Given the description of an element on the screen output the (x, y) to click on. 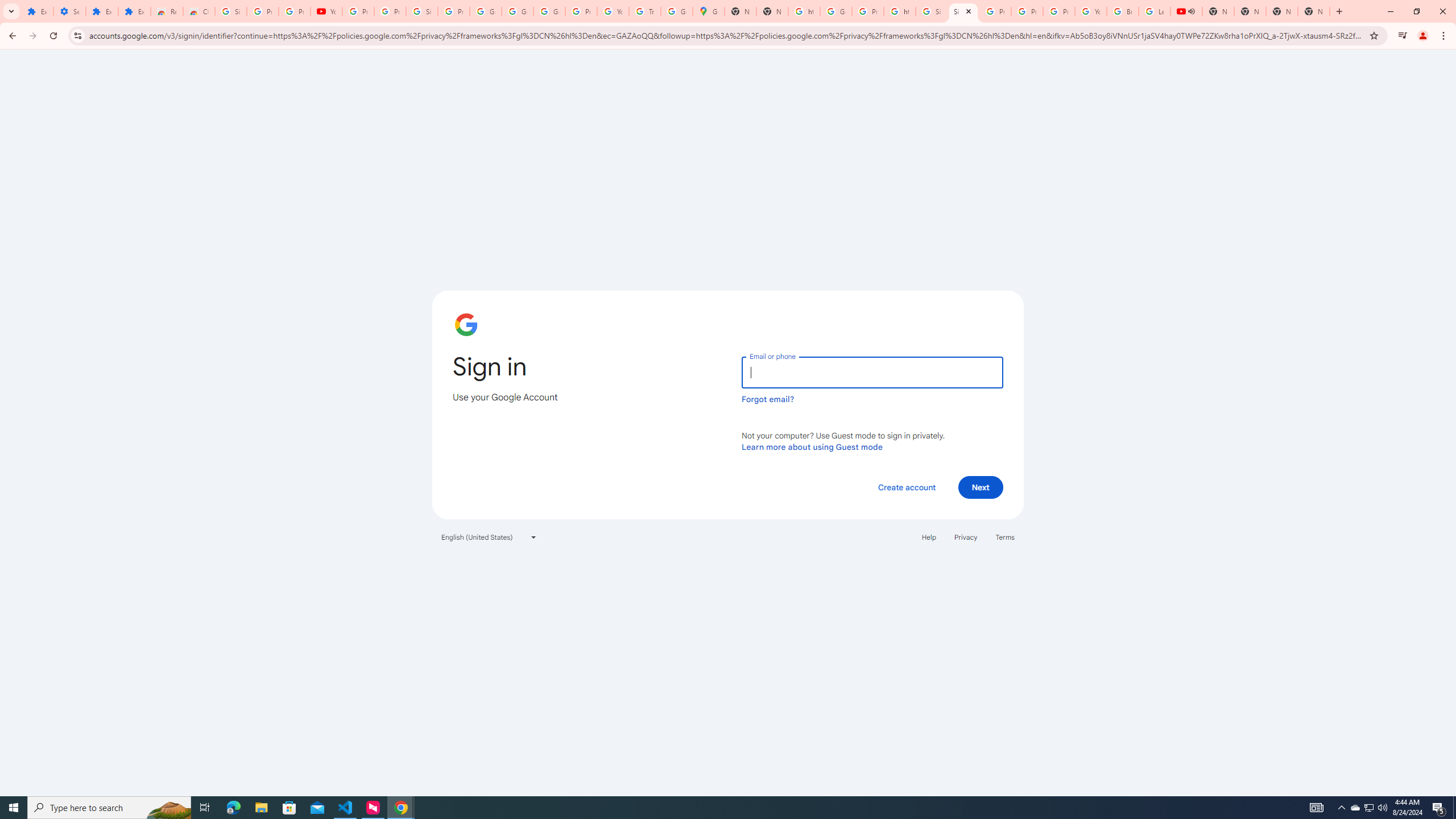
Email or phone (871, 372)
Google Maps (708, 11)
Learn more about using Guest mode (812, 446)
English (United States) (489, 536)
Privacy Help Center - Policies Help (995, 11)
Create account (905, 486)
YouTube (1091, 11)
Sign in - Google Accounts (421, 11)
